Given the description of an element on the screen output the (x, y) to click on. 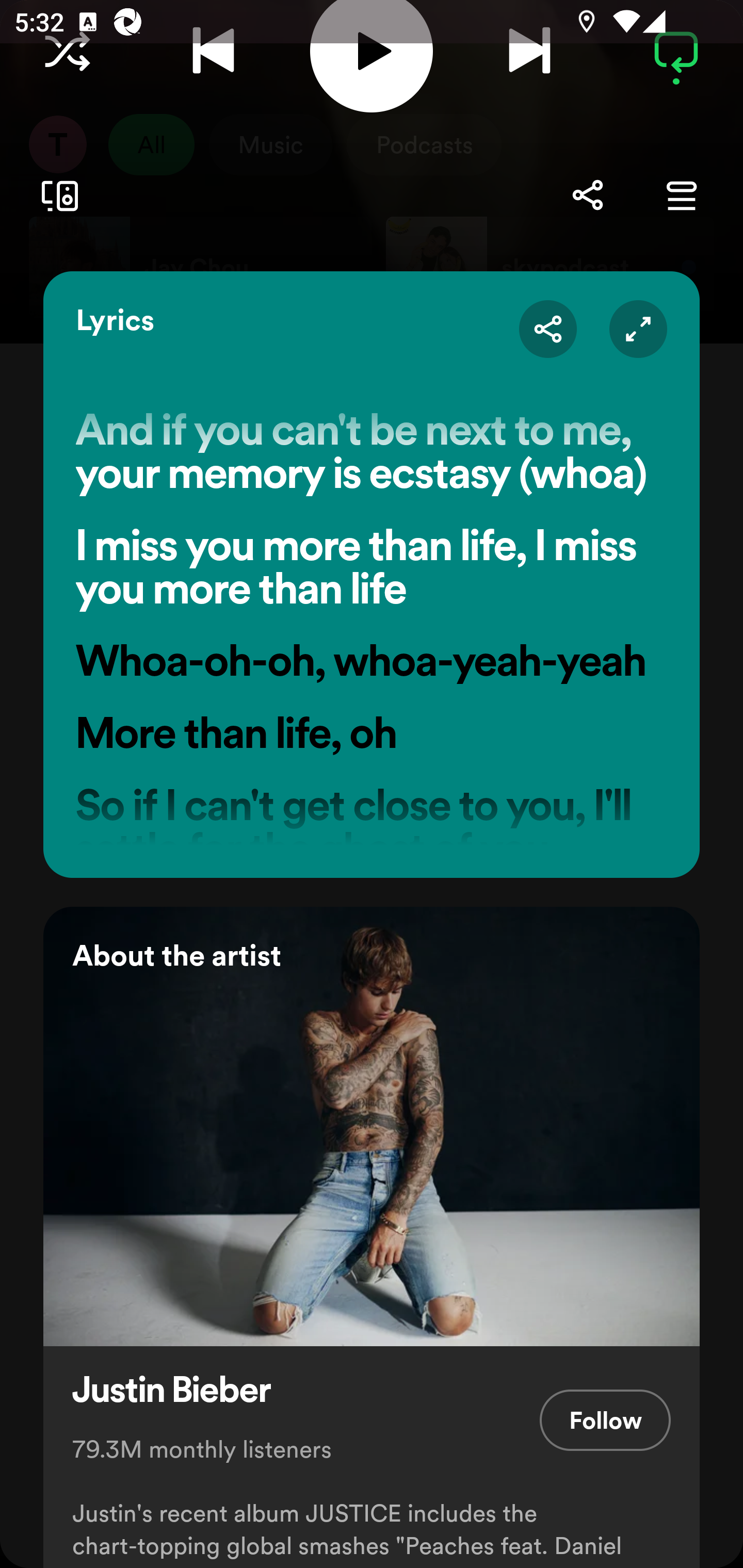
Play (371, 56)
Previous (212, 51)
Next (529, 51)
Choose a Listening Mode (66, 51)
Repeat (676, 51)
Share (587, 195)
Go to Queue (681, 195)
Connect to a device. Opens the devices menu (55, 195)
Share (547, 328)
Expand (638, 328)
Follow Follow this Artist (604, 1420)
